Given the description of an element on the screen output the (x, y) to click on. 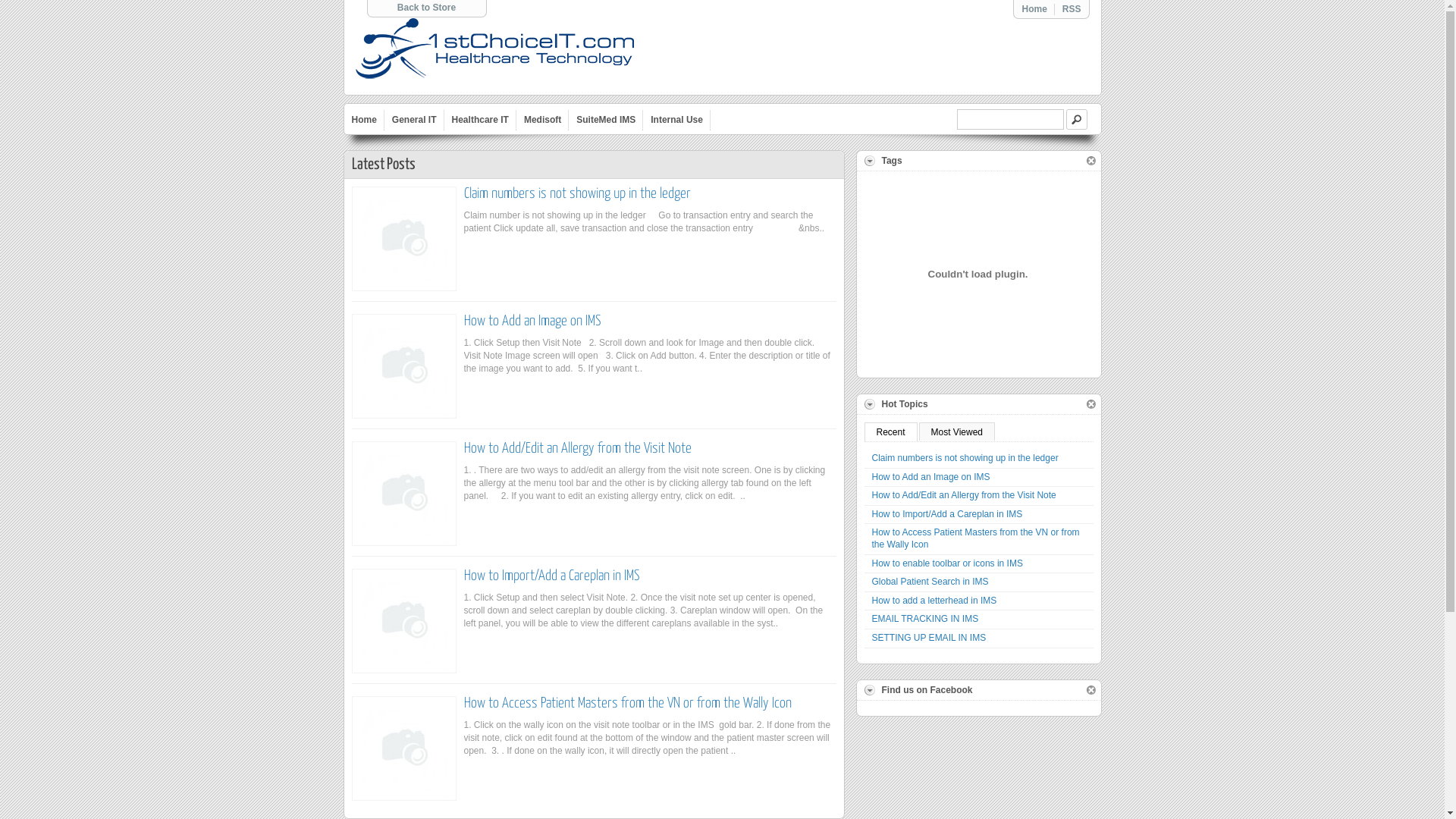
Medisoft Element type: text (542, 118)
Recent Element type: text (890, 431)
1st Choice IT's Blog Element type: hover (493, 49)
How to Import/Add a Careplan in IMS Element type: text (551, 575)
Home Element type: text (1033, 9)
Claim numbers is not showing up in the ledger Element type: text (978, 458)
EMAIL TRACKING IN IMS Element type: text (978, 619)
How to add a letterhead in IMS Element type: text (978, 601)
Most Viewed Element type: text (956, 431)
Healthcare IT Element type: text (480, 118)
How to Import/Add a Careplan in IMS Element type: text (978, 514)
SuiteMed IMS Element type: text (605, 118)
Back to Store Element type: text (426, 7)
How to Import/Add a Careplan in IMS Element type: hover (403, 620)
How to Add/Edit an Allergy from the Visit Note Element type: text (978, 495)
How to Add/Edit an Allergy from the Visit Note Element type: hover (403, 493)
How to Add an Image on IMS Element type: hover (403, 365)
Internal Use Element type: text (676, 118)
Claim numbers is not showing up in the ledger Element type: text (577, 193)
Home Element type: text (364, 118)
How to Add an Image on IMS Element type: text (532, 320)
Global Patient Search in IMS Element type: text (978, 582)
Claim numbers is not showing up in the ledger Element type: hover (403, 238)
How to Add/Edit an Allergy from the Visit Note Element type: text (577, 448)
SETTING UP EMAIL IN IMS Element type: text (978, 638)
How to Add an Image on IMS Element type: text (978, 477)
How to enable toolbar or icons in IMS Element type: text (978, 564)
General IT Element type: text (414, 118)
RSS Element type: text (1071, 9)
